Given the description of an element on the screen output the (x, y) to click on. 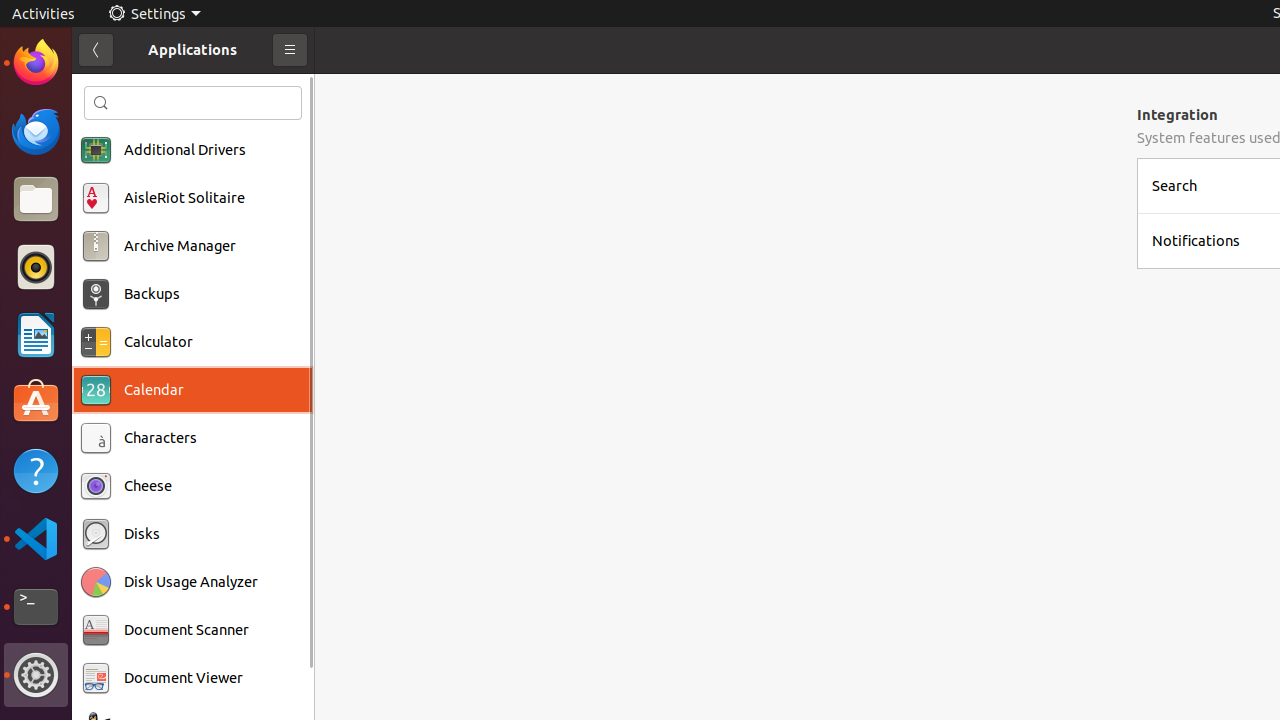
Disks Element type: label (142, 534)
Cheese Element type: label (148, 486)
Document Scanner Element type: label (186, 630)
Disk Usage Analyzer Element type: label (191, 582)
